Given the description of an element on the screen output the (x, y) to click on. 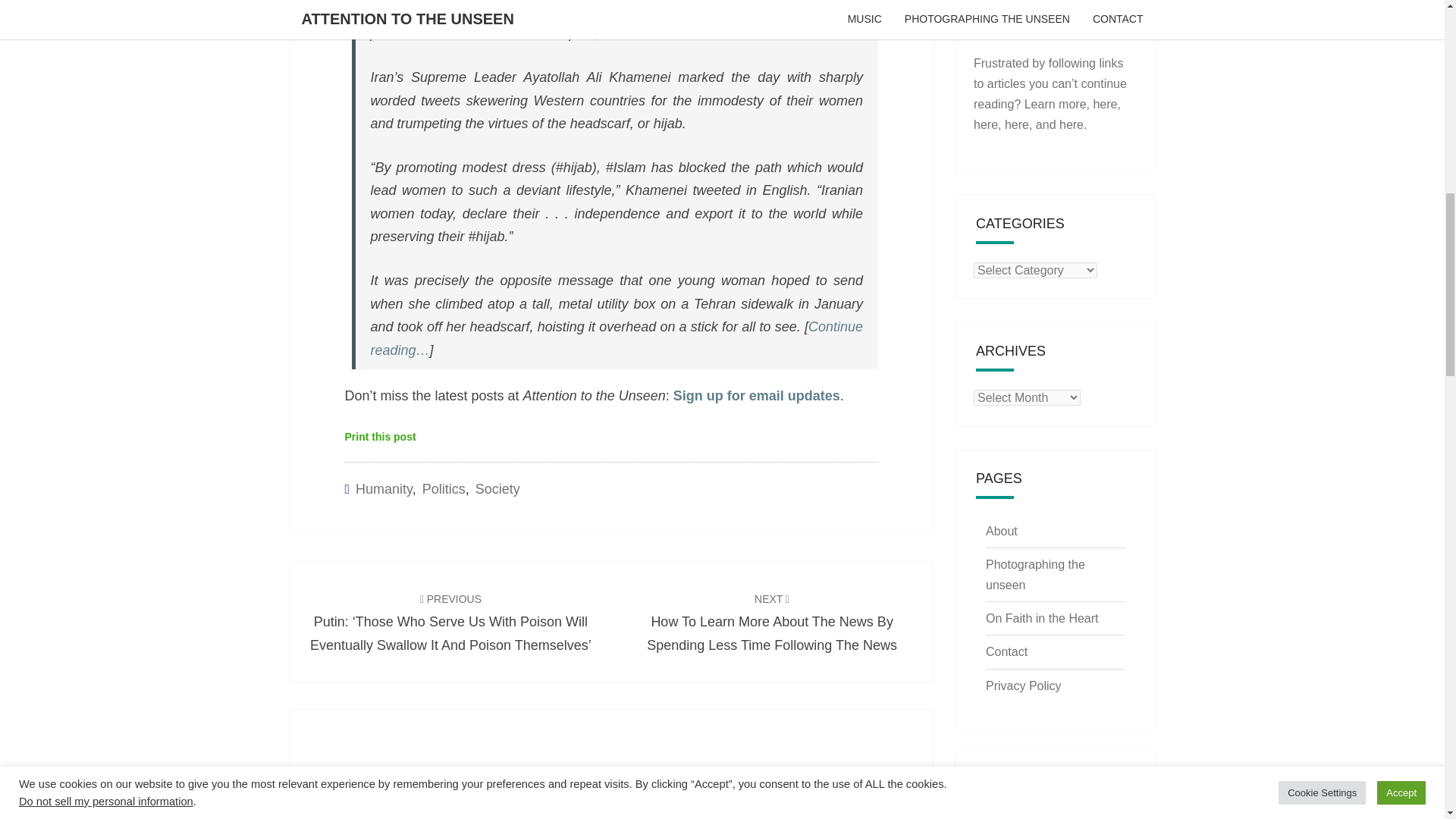
Photographing the unseen (1034, 574)
here (1016, 124)
Print this post (378, 437)
here (985, 124)
Society (497, 488)
Politics (443, 488)
On Faith in the Heart (1042, 617)
Contact (1006, 651)
Sign up for email updates (756, 395)
here (1104, 103)
Humanity (383, 488)
About (1001, 530)
Privacy Policy (1023, 685)
here (1071, 124)
